Given the description of an element on the screen output the (x, y) to click on. 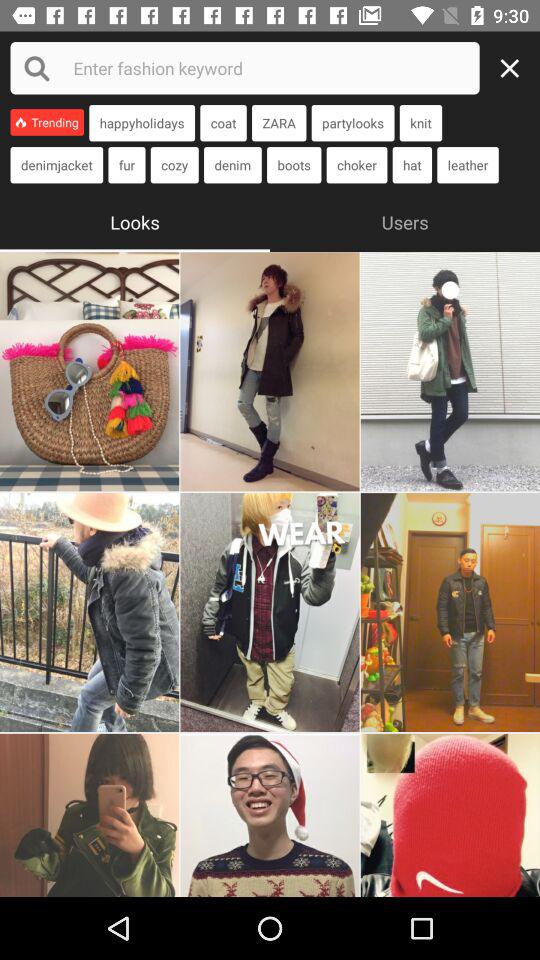
open image (89, 815)
